Given the description of an element on the screen output the (x, y) to click on. 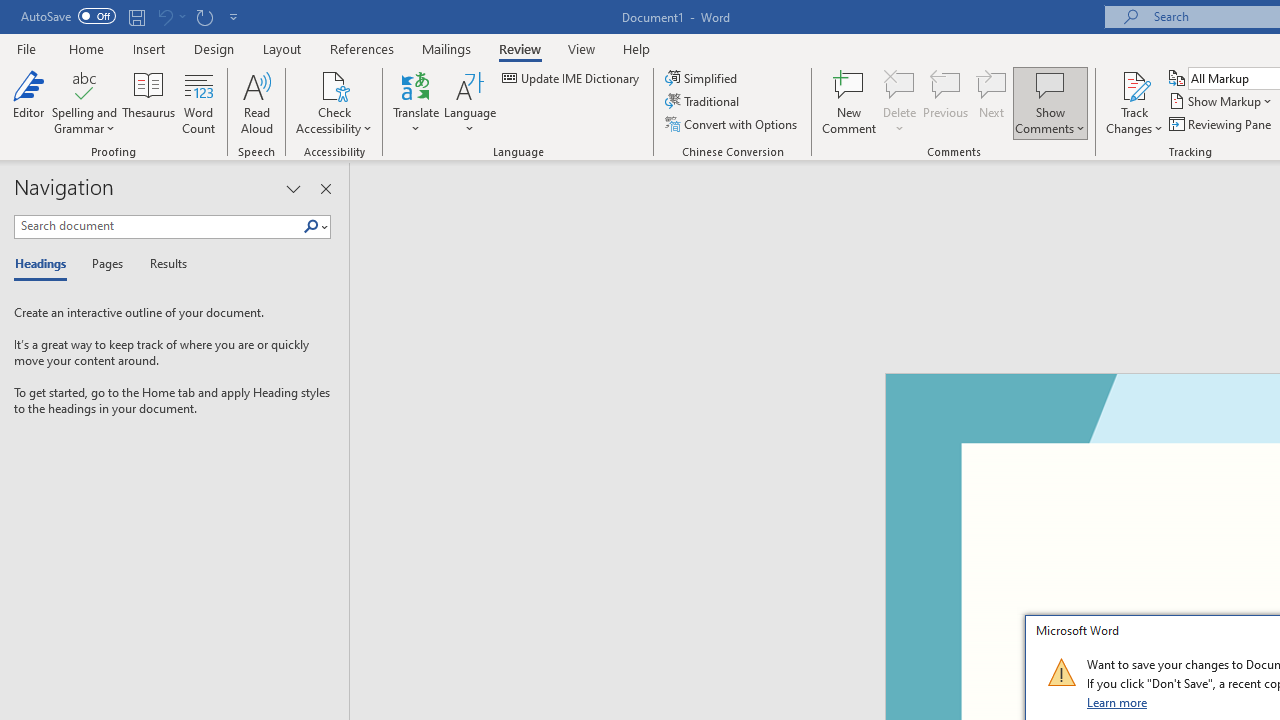
Repeat Shrink Font (204, 15)
References (362, 48)
Save (136, 15)
Check Accessibility (334, 84)
Convert with Options... (732, 124)
Reviewing Pane (1221, 124)
Show Markup (1222, 101)
AutoSave (68, 16)
Check Accessibility (334, 102)
Translate (415, 102)
